Given the description of an element on the screen output the (x, y) to click on. 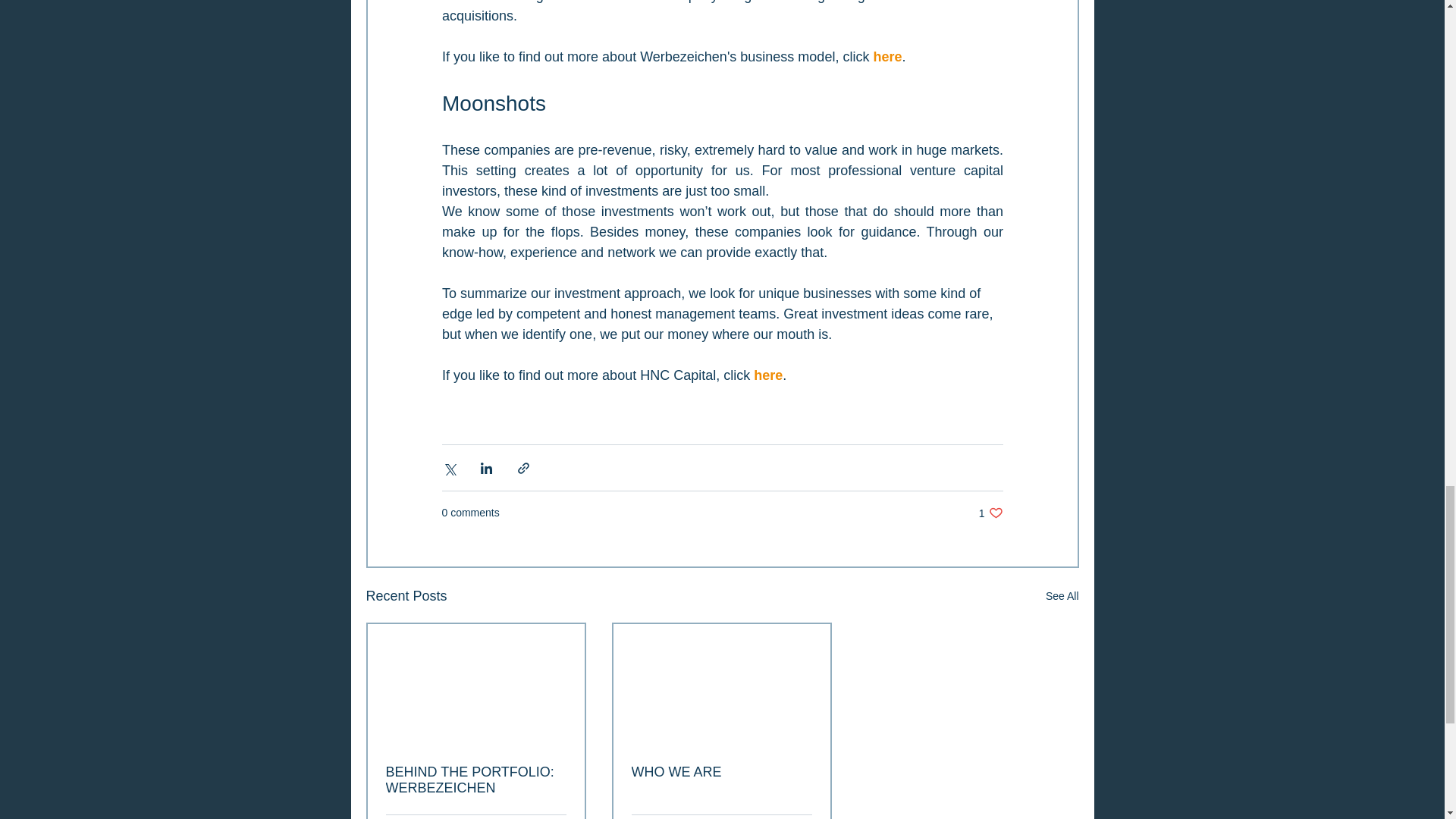
WHO WE ARE (720, 772)
See All (1061, 596)
here (990, 513)
here (886, 56)
BEHIND THE PORTFOLIO: WERBEZEICHEN (768, 375)
